Given the description of an element on the screen output the (x, y) to click on. 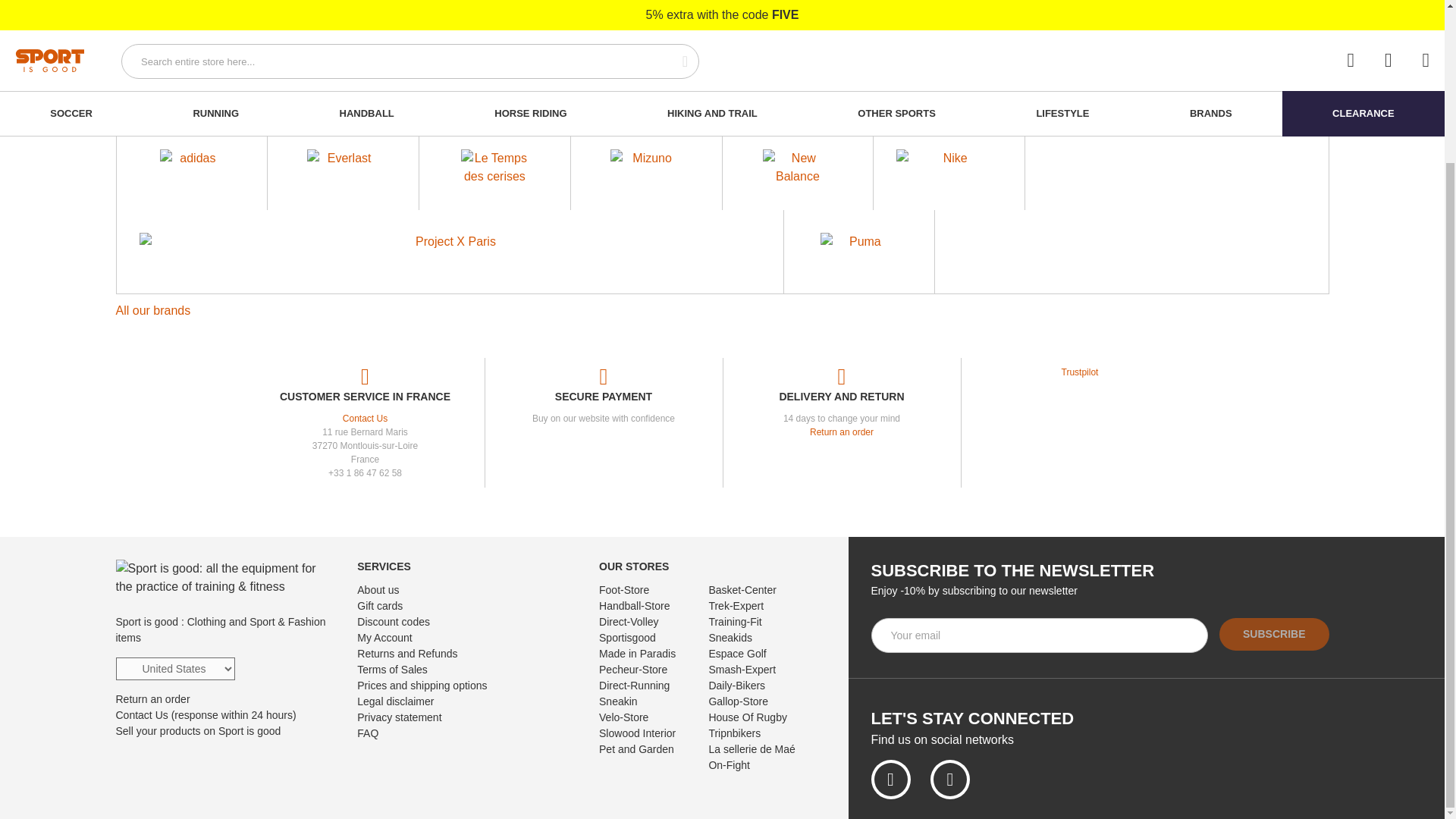
Subscribe (1273, 634)
Sign up for our newsletter (1039, 635)
